Given the description of an element on the screen output the (x, y) to click on. 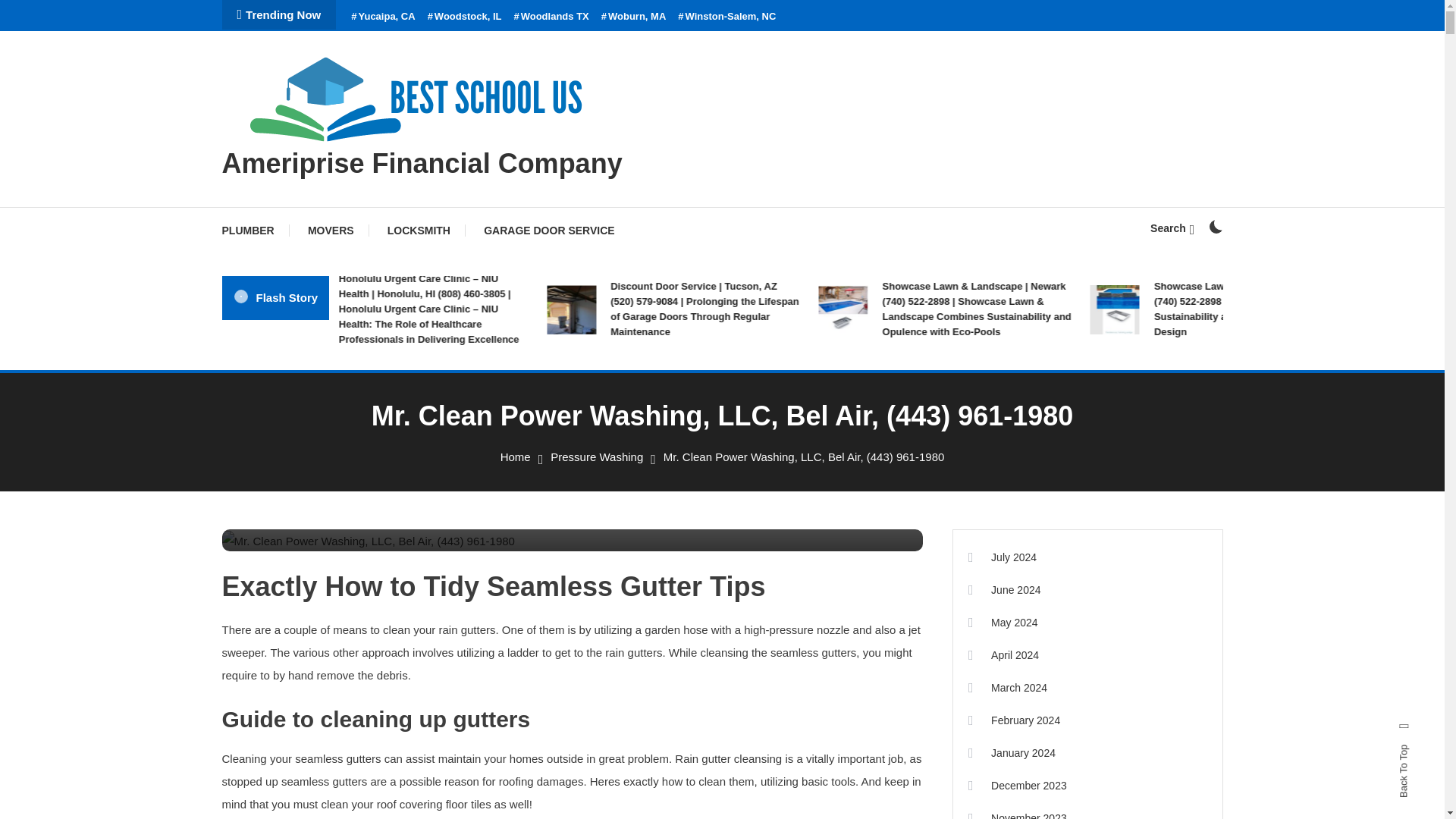
on (1215, 226)
GARAGE DOOR SERVICE (548, 230)
Home (515, 456)
LOCKSMITH (418, 230)
Woodstock, IL (465, 16)
PLUMBER (254, 230)
Search (768, 434)
Winston-Salem, NC (727, 16)
MOVERS (330, 230)
Ameriprise Financial Company (421, 163)
Search (1171, 227)
Woburn, MA (633, 16)
Woodlands TX (550, 16)
Pressure Washing (596, 456)
Yucaipa, CA (382, 16)
